Given the description of an element on the screen output the (x, y) to click on. 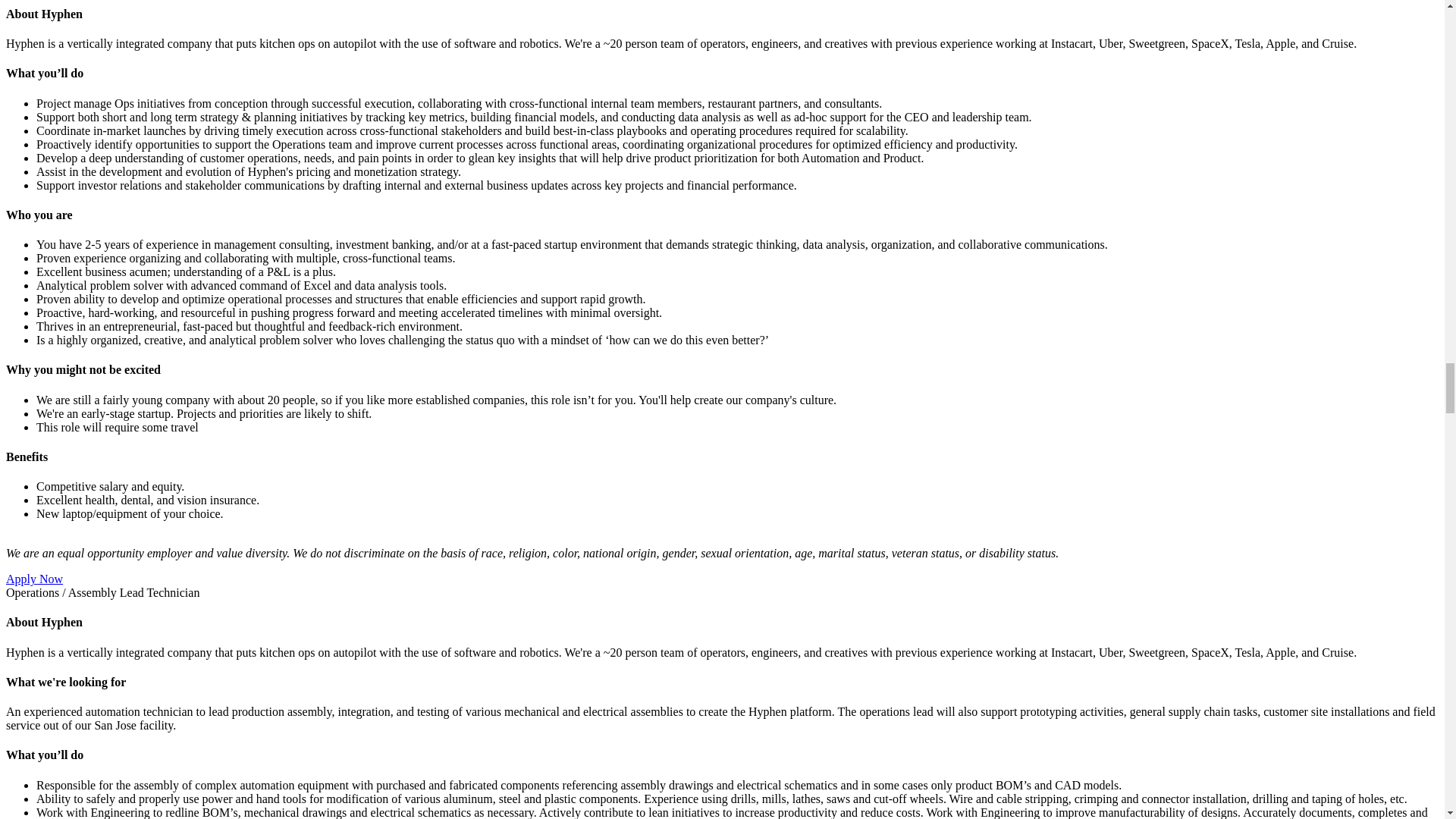
Apply Now (33, 578)
